Given the description of an element on the screen output the (x, y) to click on. 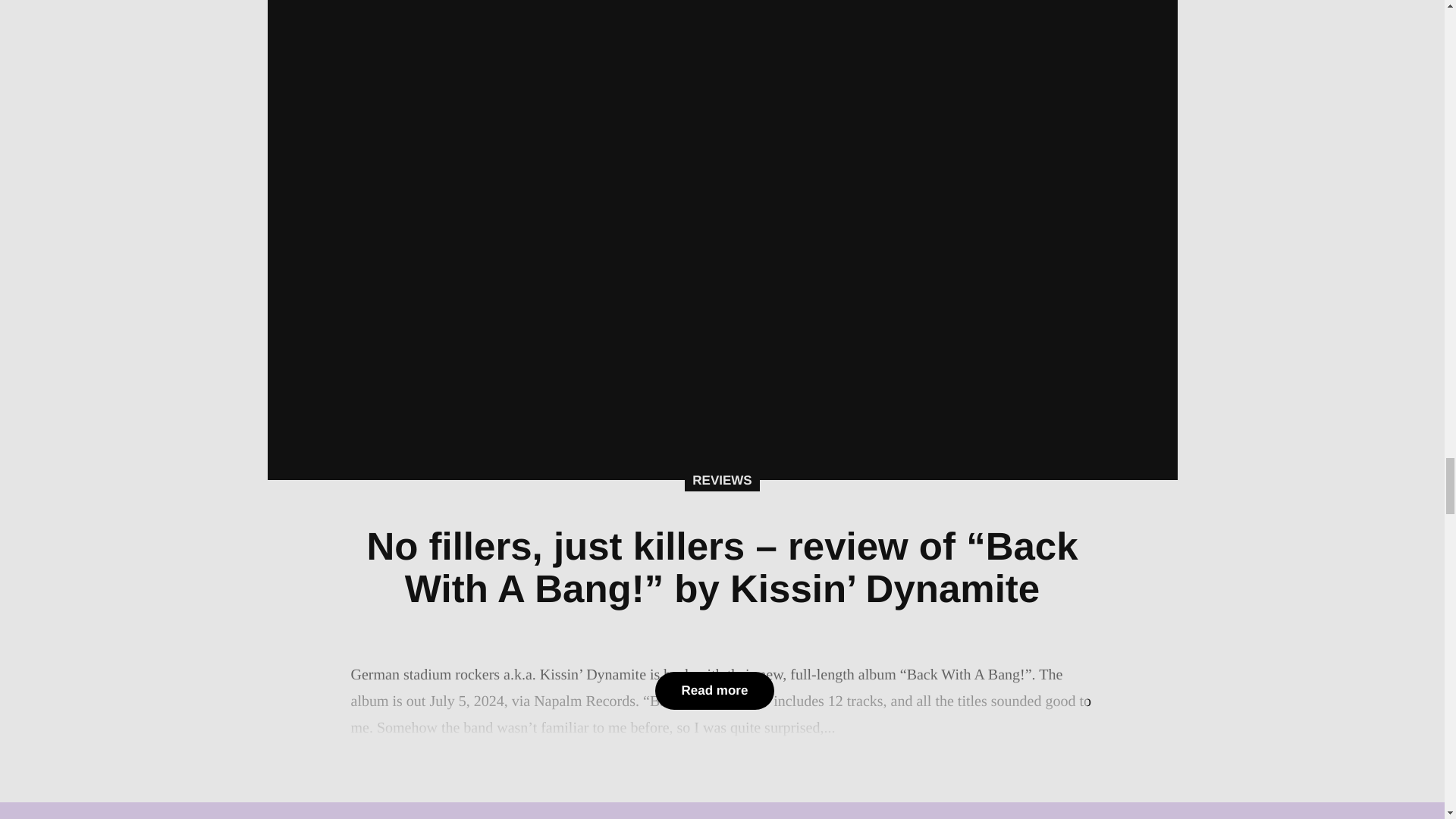
REVIEWS (721, 480)
